Given the description of an element on the screen output the (x, y) to click on. 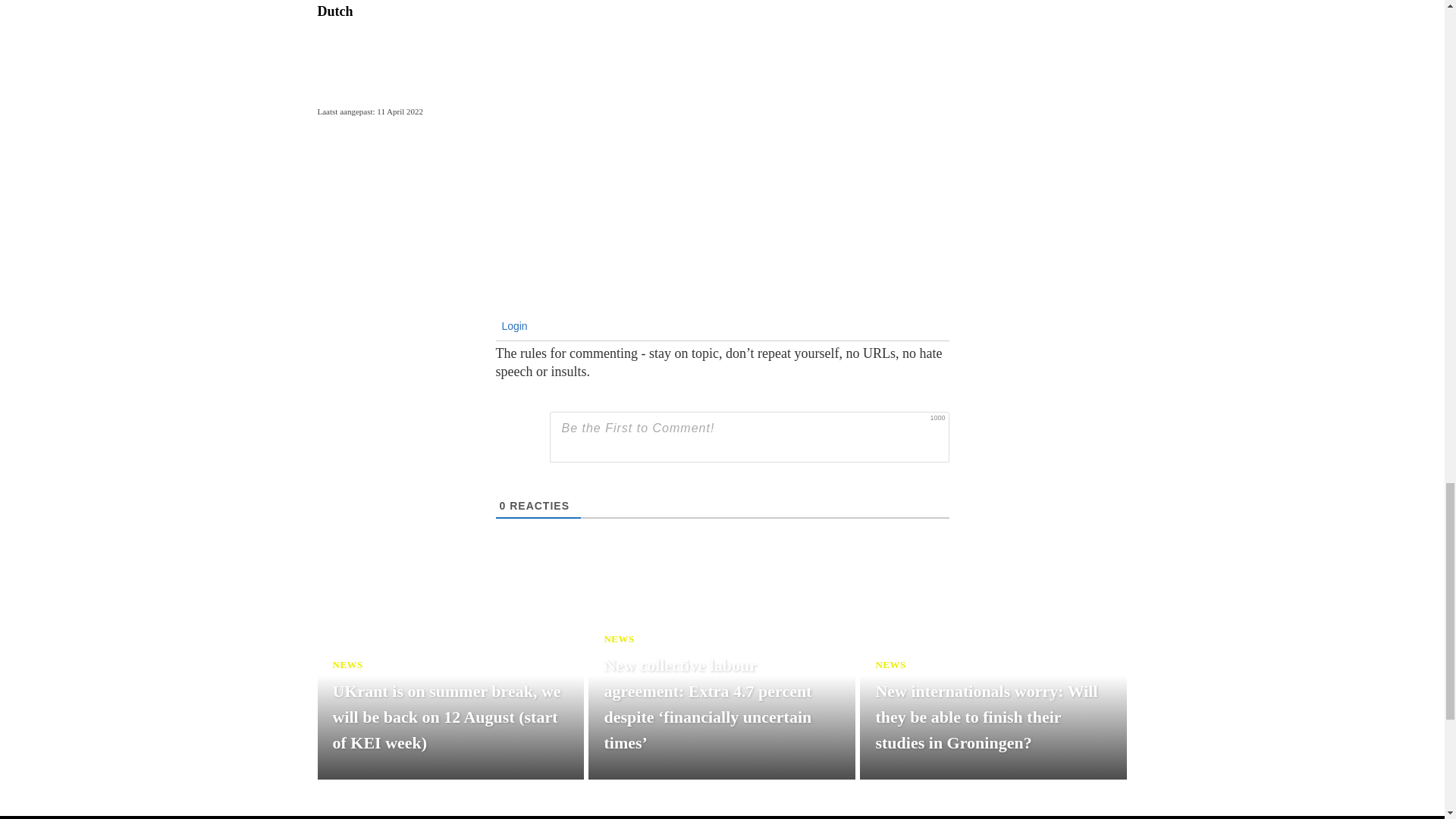
Login (512, 326)
Dutch (334, 11)
